Given the description of an element on the screen output the (x, y) to click on. 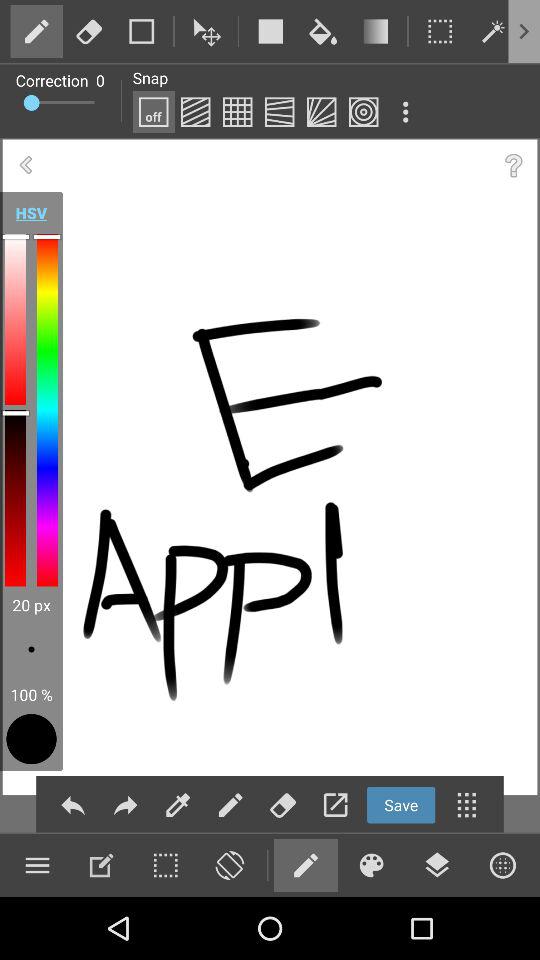
draw a square (270, 31)
